Given the description of an element on the screen output the (x, y) to click on. 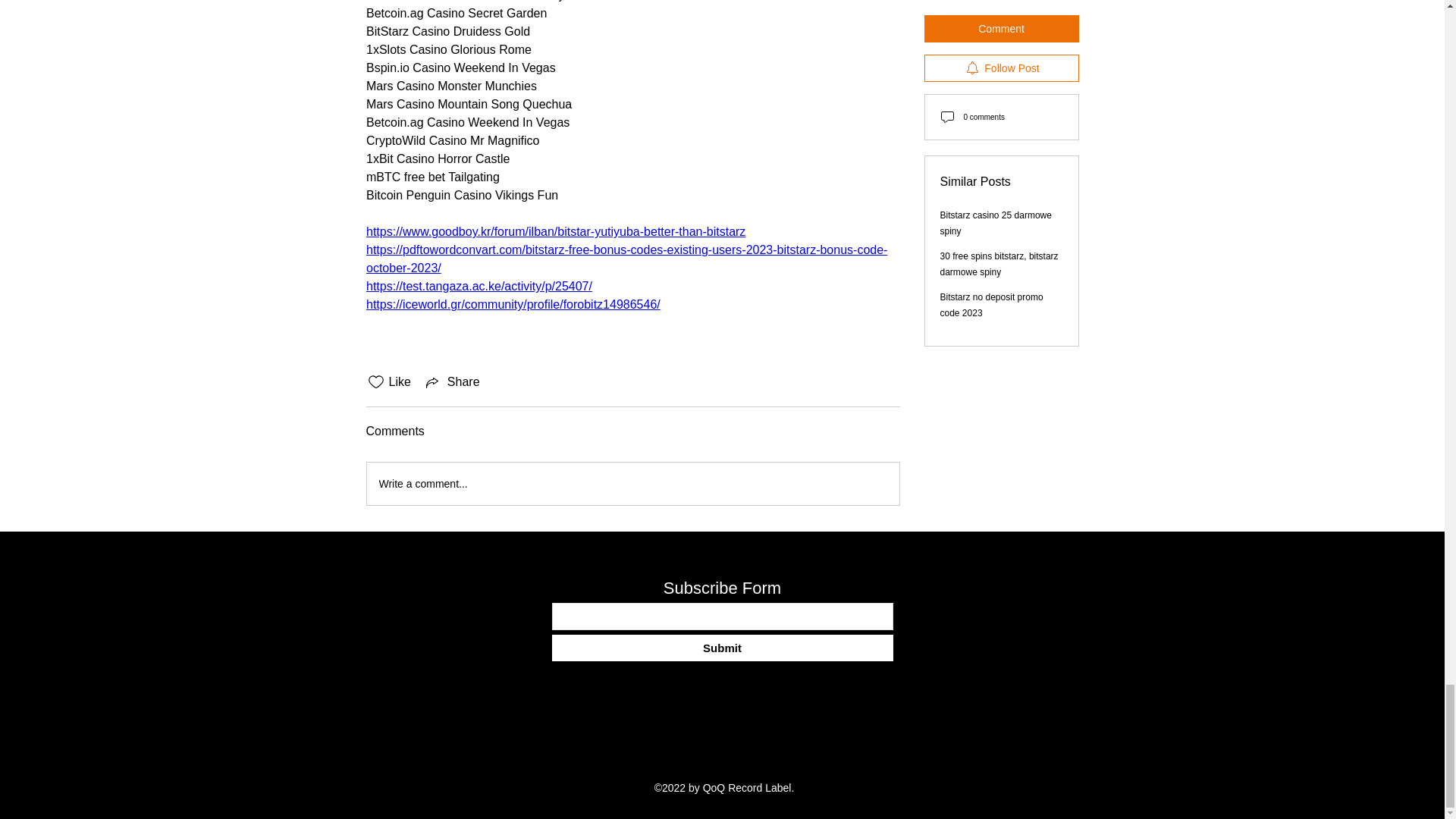
Share (451, 382)
Submit (722, 647)
Write a comment... (632, 483)
